Given the description of an element on the screen output the (x, y) to click on. 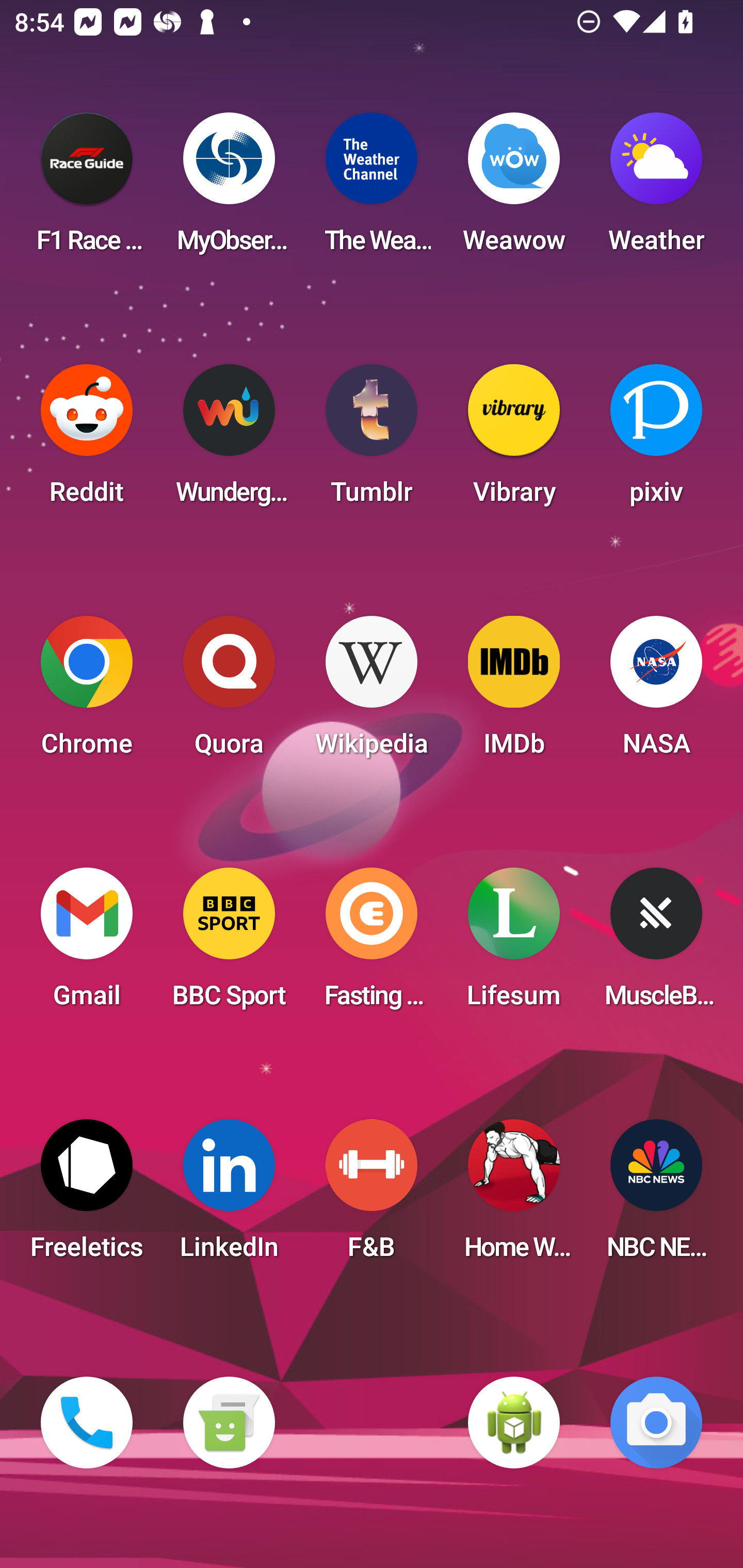
F1 Race Guide (86, 188)
MyObservatory (228, 188)
The Weather Channel (371, 188)
Weawow (513, 188)
Weather (656, 188)
Reddit (86, 440)
Wunderground (228, 440)
Tumblr (371, 440)
Vibrary (513, 440)
pixiv (656, 440)
Chrome (86, 692)
Quora (228, 692)
Wikipedia (371, 692)
IMDb (513, 692)
NASA (656, 692)
Gmail (86, 943)
BBC Sport (228, 943)
Fasting Coach (371, 943)
Lifesum (513, 943)
MuscleBooster (656, 943)
Freeletics (86, 1195)
LinkedIn (228, 1195)
F&B (371, 1195)
Home Workout (513, 1195)
NBC NEWS (656, 1195)
Phone (86, 1422)
Messaging (228, 1422)
WebView Browser Tester (513, 1422)
Camera (656, 1422)
